Given the description of an element on the screen output the (x, y) to click on. 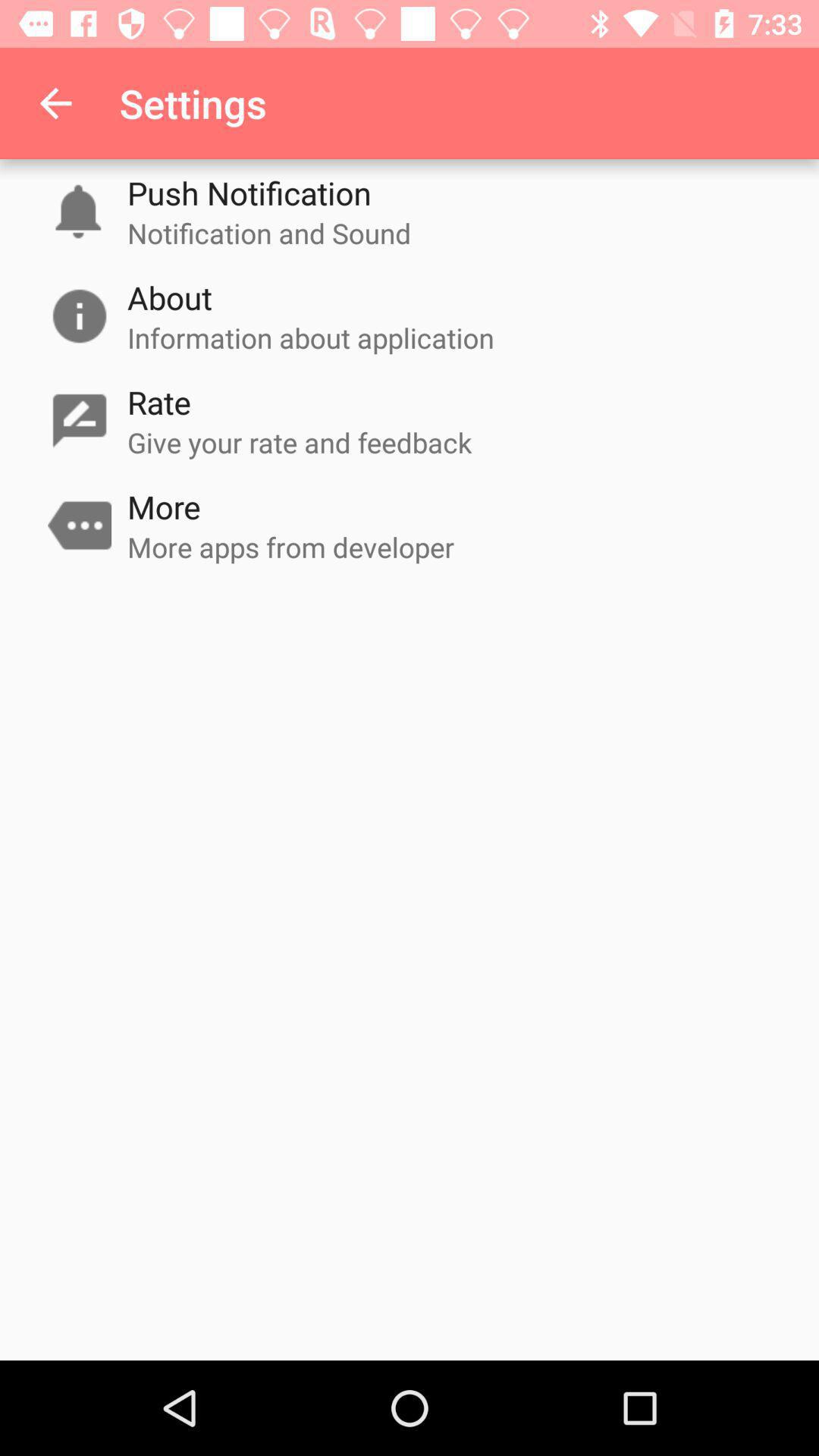
flip to information about application (310, 337)
